Given the description of an element on the screen output the (x, y) to click on. 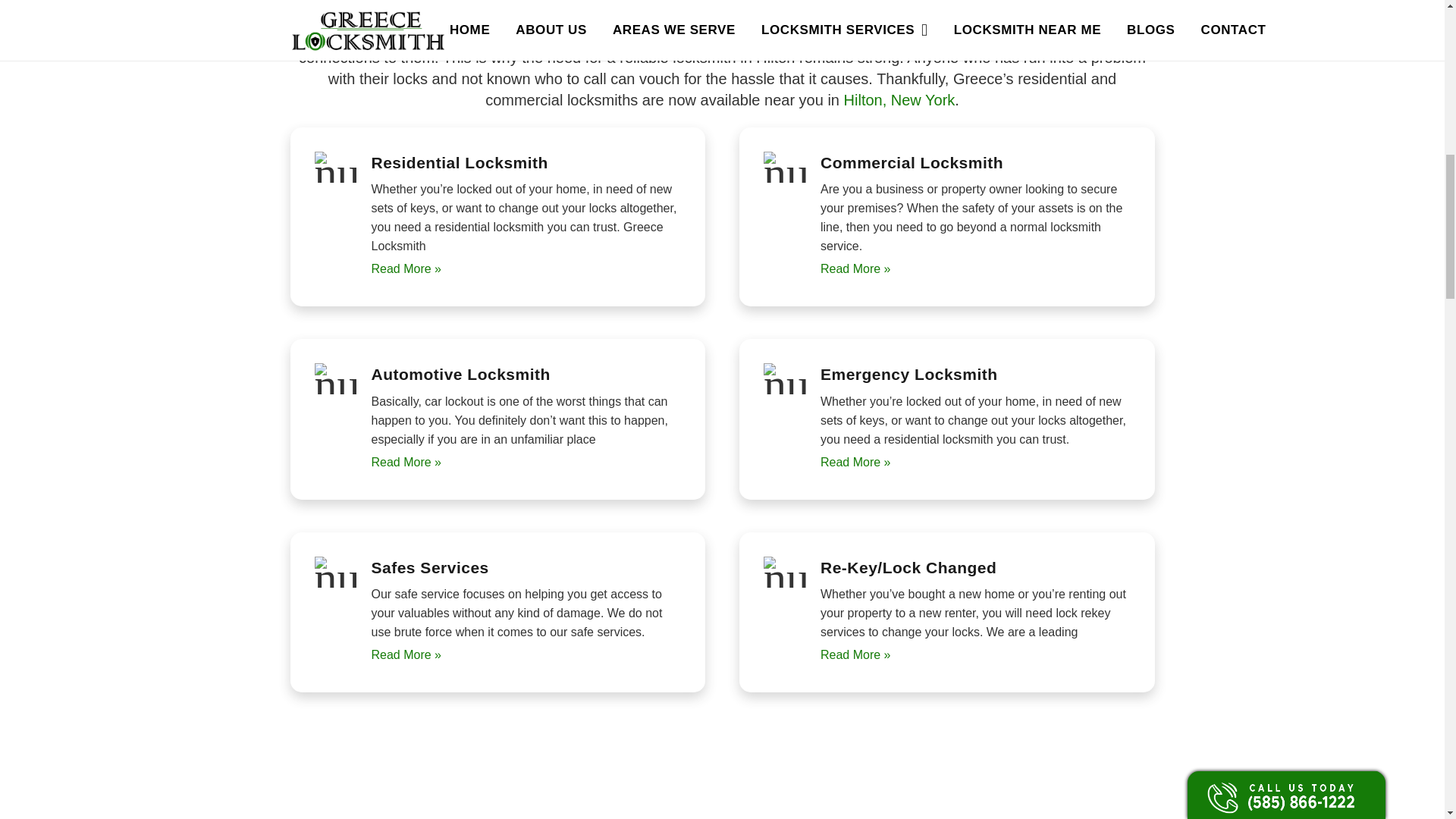
Residential Locksmith (976, 654)
Back to top (1413, 26)
Residential Locksmith (526, 461)
Hilton, New York (899, 98)
Residential Locksmith (976, 461)
Residential Locksmith (526, 654)
Residential Locksmith (526, 268)
Commercial Locksmith (976, 268)
